Given the description of an element on the screen output the (x, y) to click on. 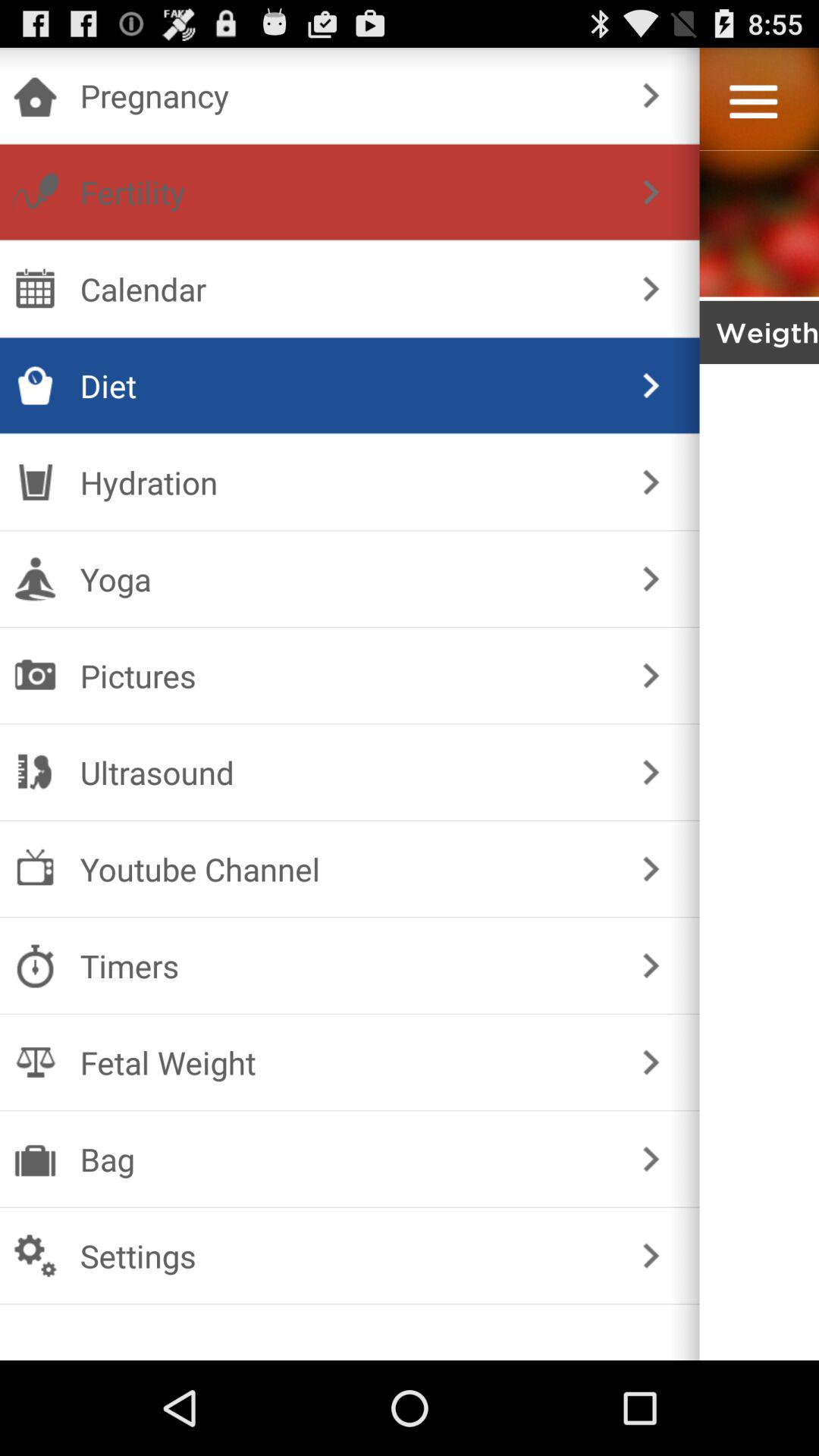
launch icon below the hydration icon (346, 578)
